Given the description of an element on the screen output the (x, y) to click on. 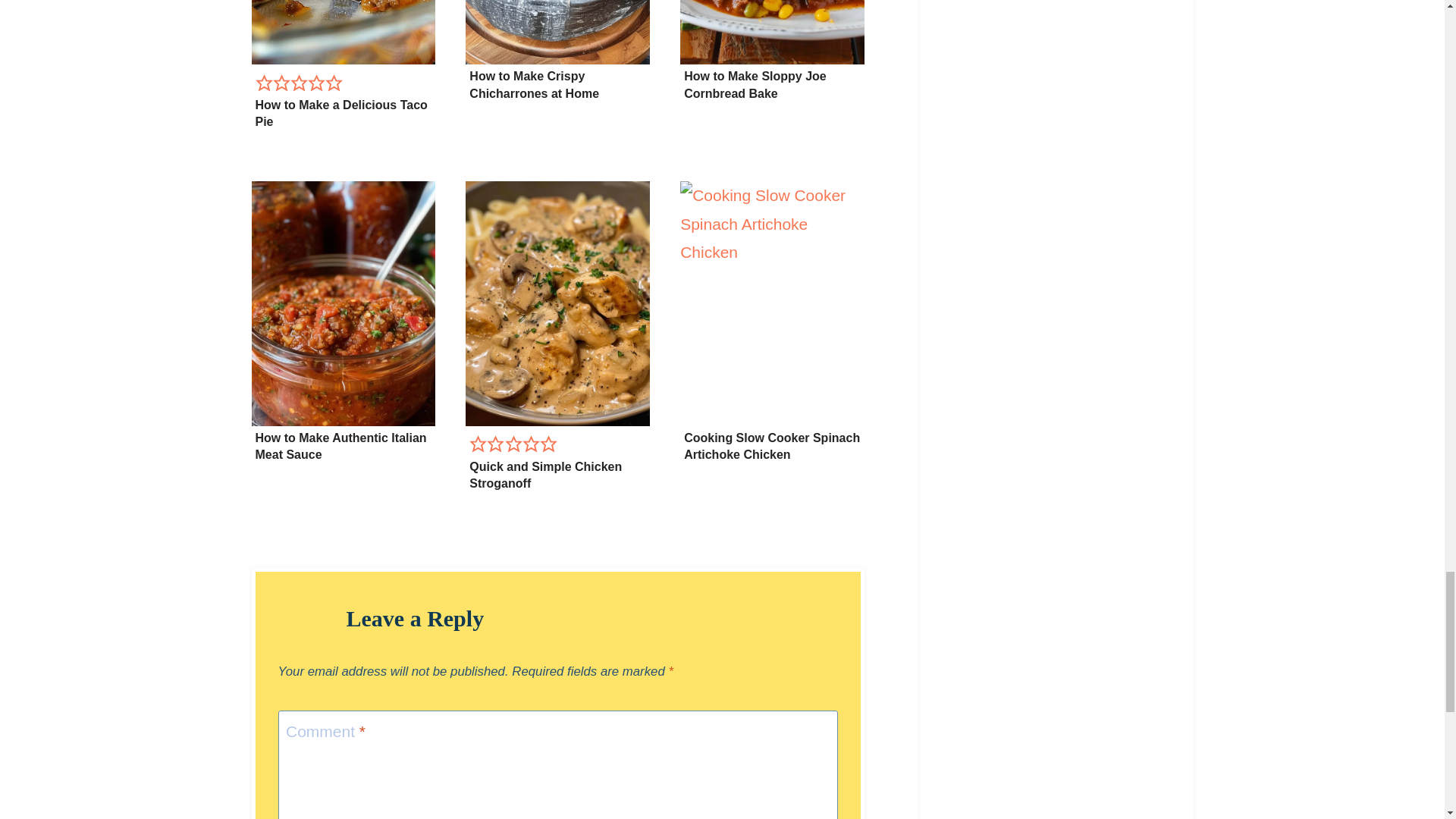
How to Make Sloppy Joe Cornbread Bake (755, 84)
How to Make a Delicious Taco Pie (340, 112)
Quick and Simple Chicken Stroganoff (544, 474)
How to Make Crispy Chicharrones at Home (533, 84)
How to Make Authentic Italian Meat Sauce (340, 446)
Cooking Slow Cooker Spinach Artichoke Chicken (772, 446)
